Given the description of an element on the screen output the (x, y) to click on. 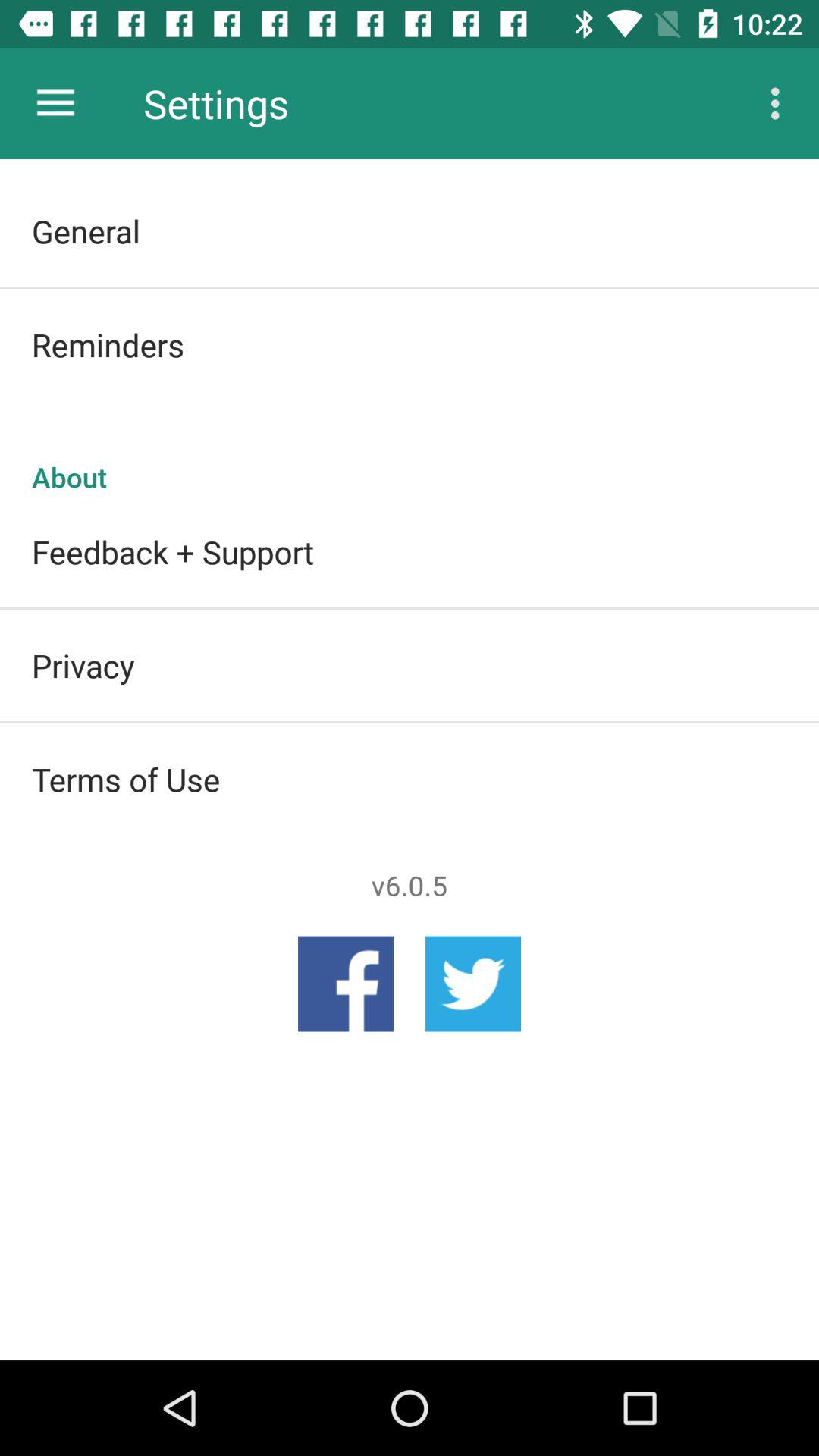
choose the item to the left of settings icon (55, 103)
